Given the description of an element on the screen output the (x, y) to click on. 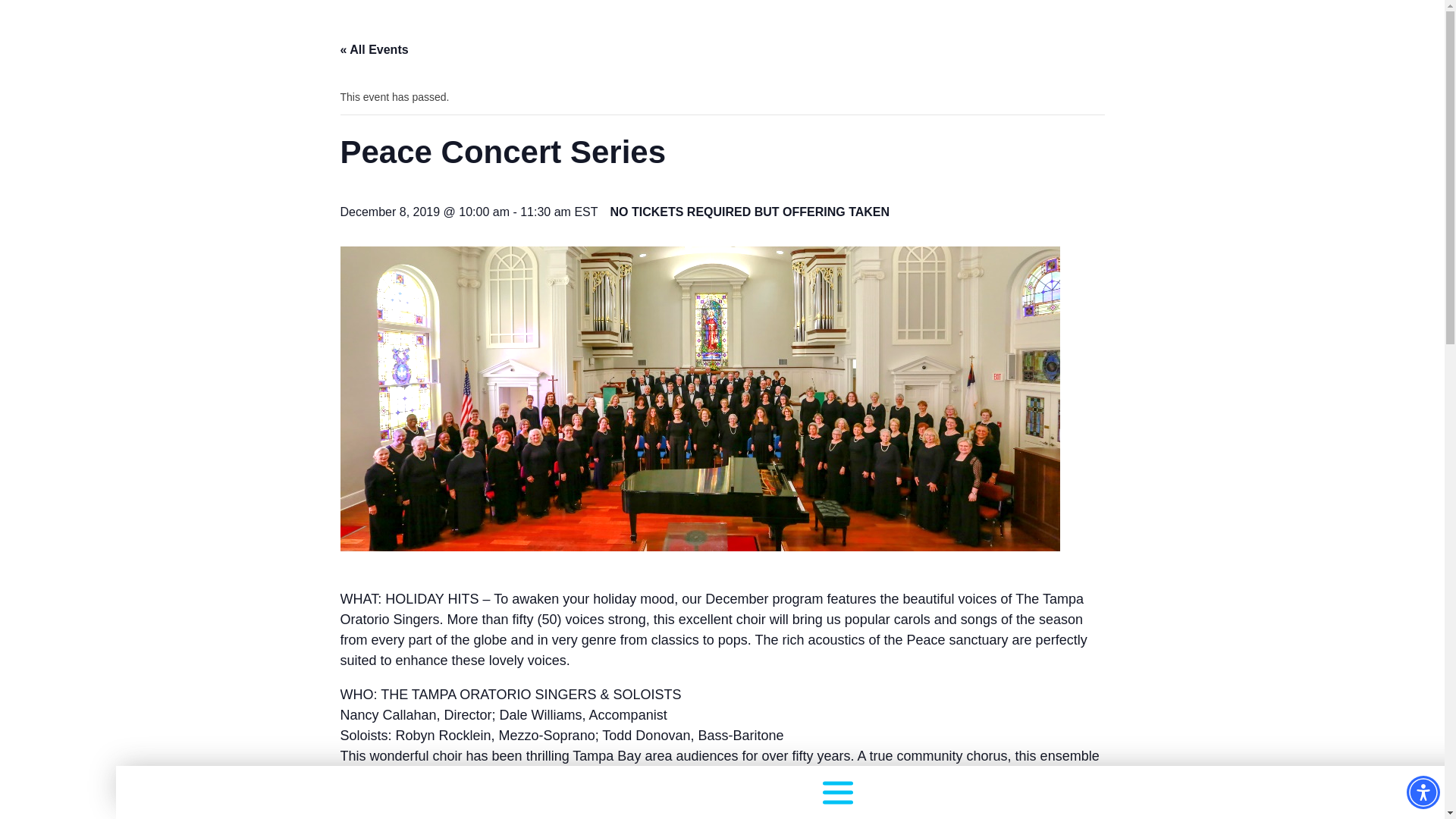
Accessibility Menu (1422, 792)
